Given the description of an element on the screen output the (x, y) to click on. 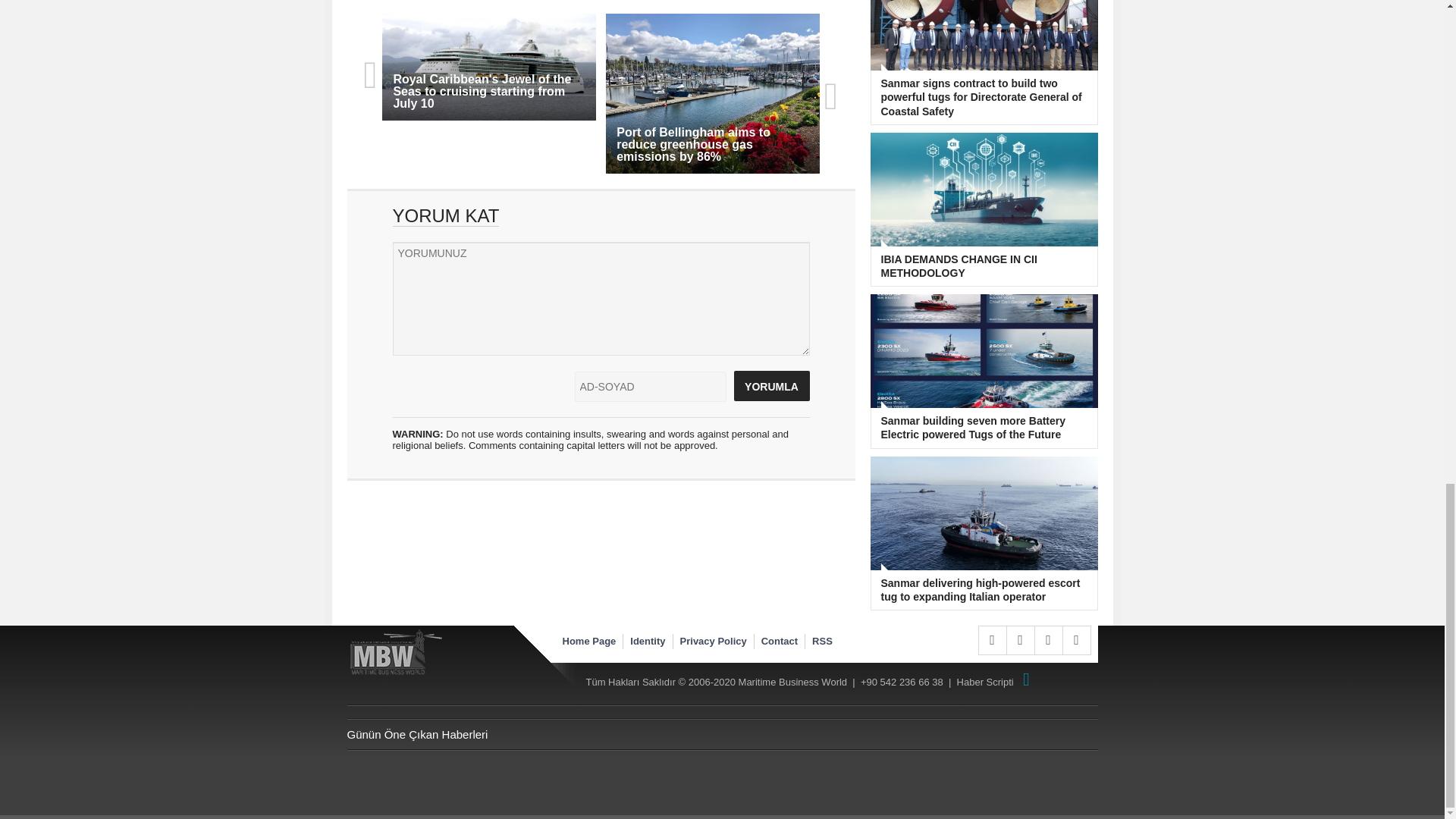
YORUMLA (771, 386)
Facebook ile takip et (992, 640)
RSS, News Feed, Haber Beslemesi (1019, 640)
